Given the description of an element on the screen output the (x, y) to click on. 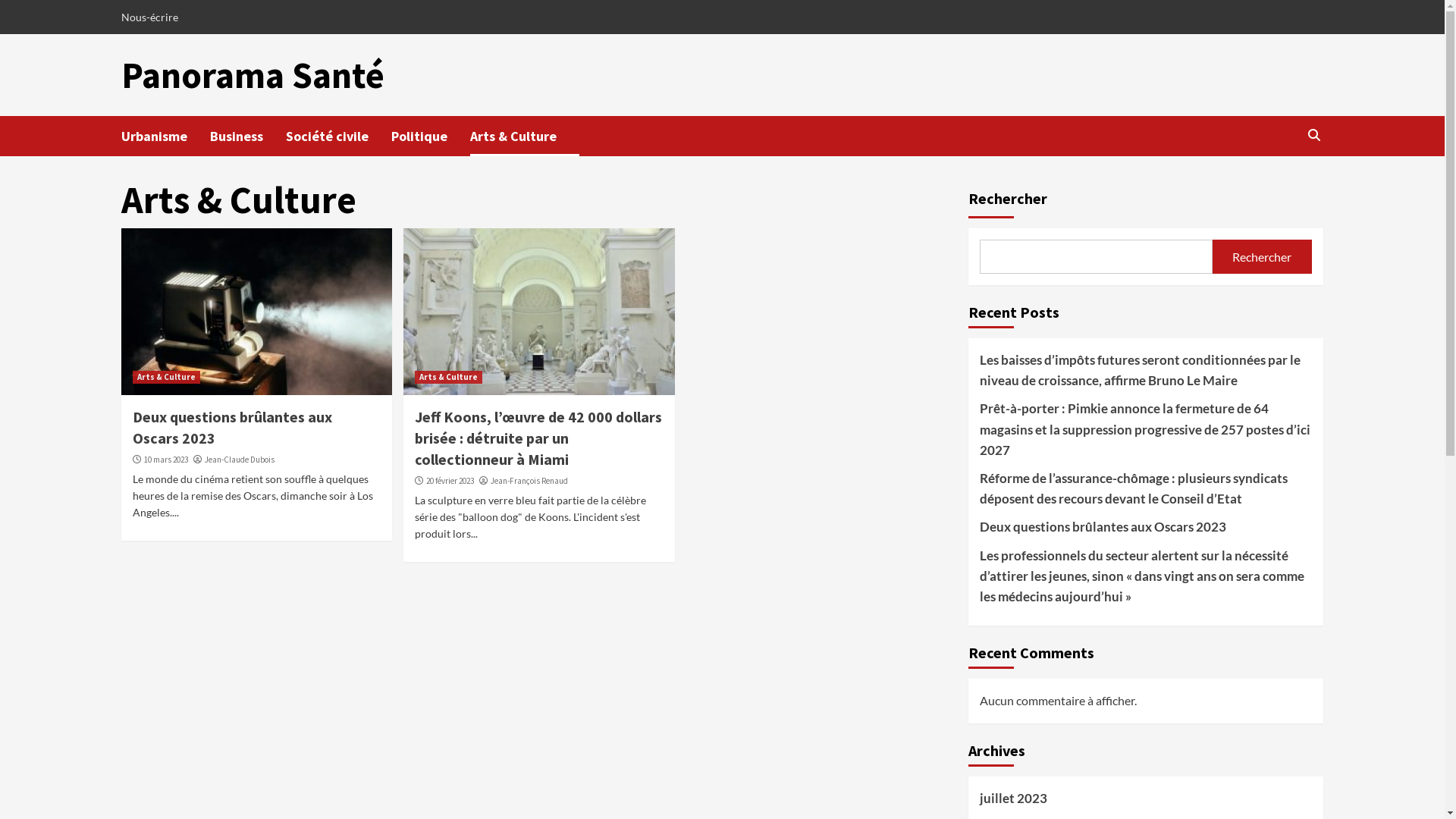
juillet 2023 Element type: text (1145, 801)
Arts & Culture Element type: text (524, 136)
Rechercher Element type: text (1278, 183)
10 mars 2023 Element type: text (166, 459)
Rechercher Element type: text (1261, 256)
Politique Element type: text (430, 136)
Business Element type: text (247, 136)
Arts & Culture Element type: text (448, 376)
Urbanisme Element type: text (165, 136)
Search Element type: hover (1313, 134)
Arts & Culture Element type: text (166, 376)
Jean-Claude Dubois Element type: text (239, 459)
